Given the description of an element on the screen output the (x, y) to click on. 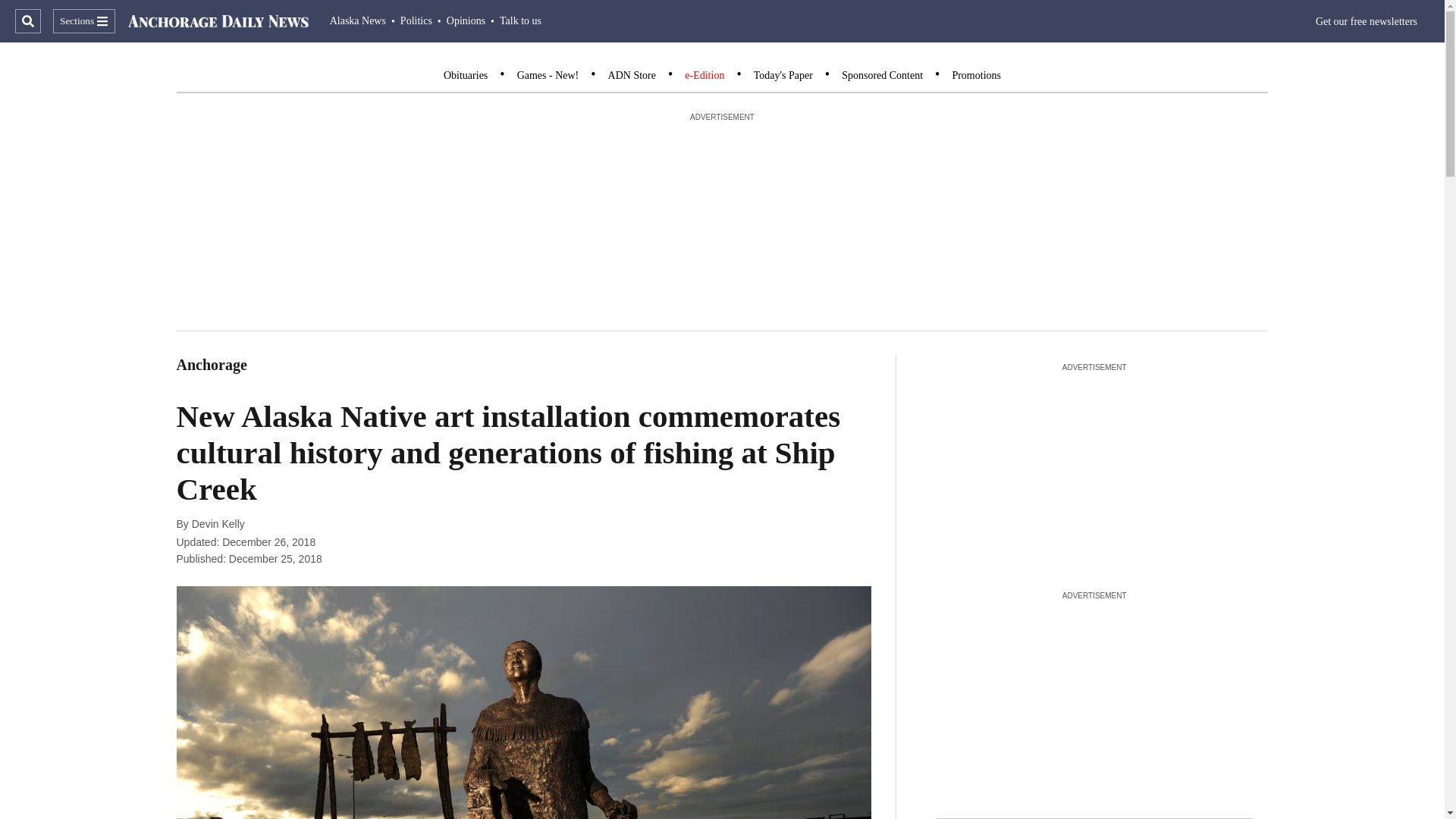
Opinions (465, 20)
Sections (83, 21)
ADN Logo (218, 20)
Get our free newsletters (1366, 21)
Alaska News (357, 20)
Politics (416, 20)
